Given the description of an element on the screen output the (x, y) to click on. 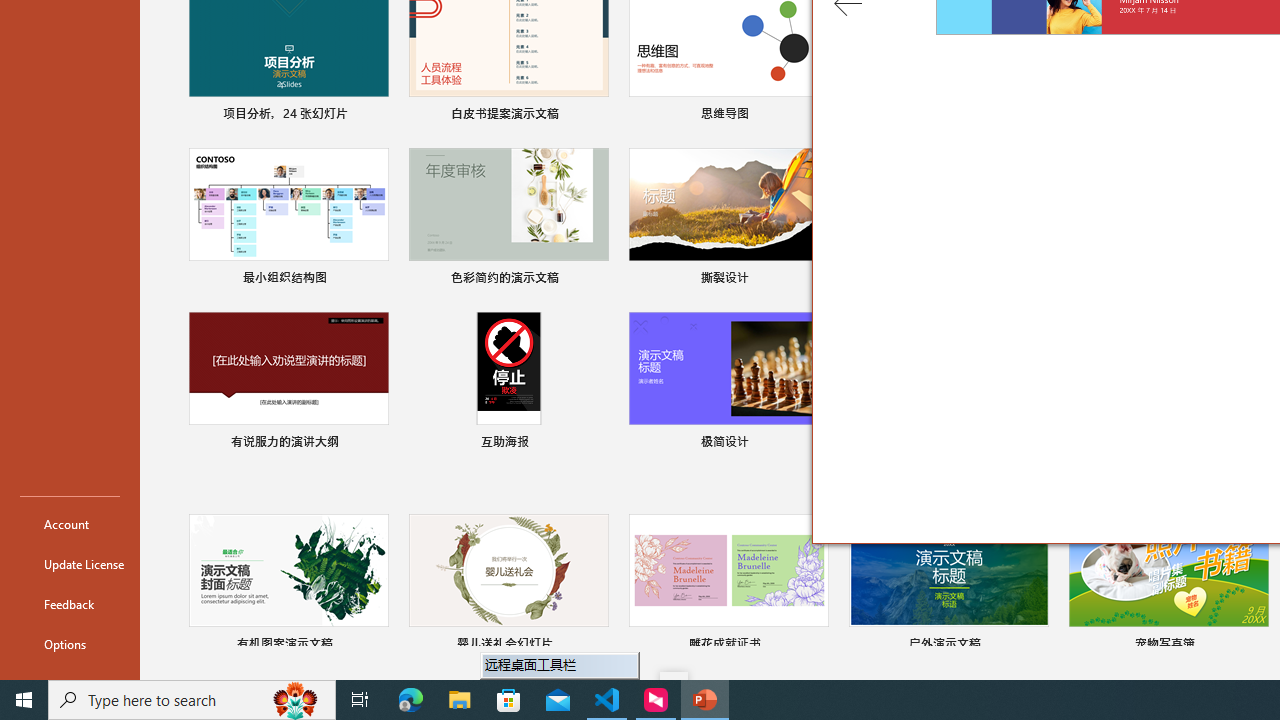
PowerPoint - 1 running window (704, 699)
Feedback (69, 603)
Account (69, 523)
Search highlights icon opens search home window (295, 699)
File Explorer (460, 699)
Task View (359, 699)
Pin to list (1255, 645)
Options (69, 643)
